Given the description of an element on the screen output the (x, y) to click on. 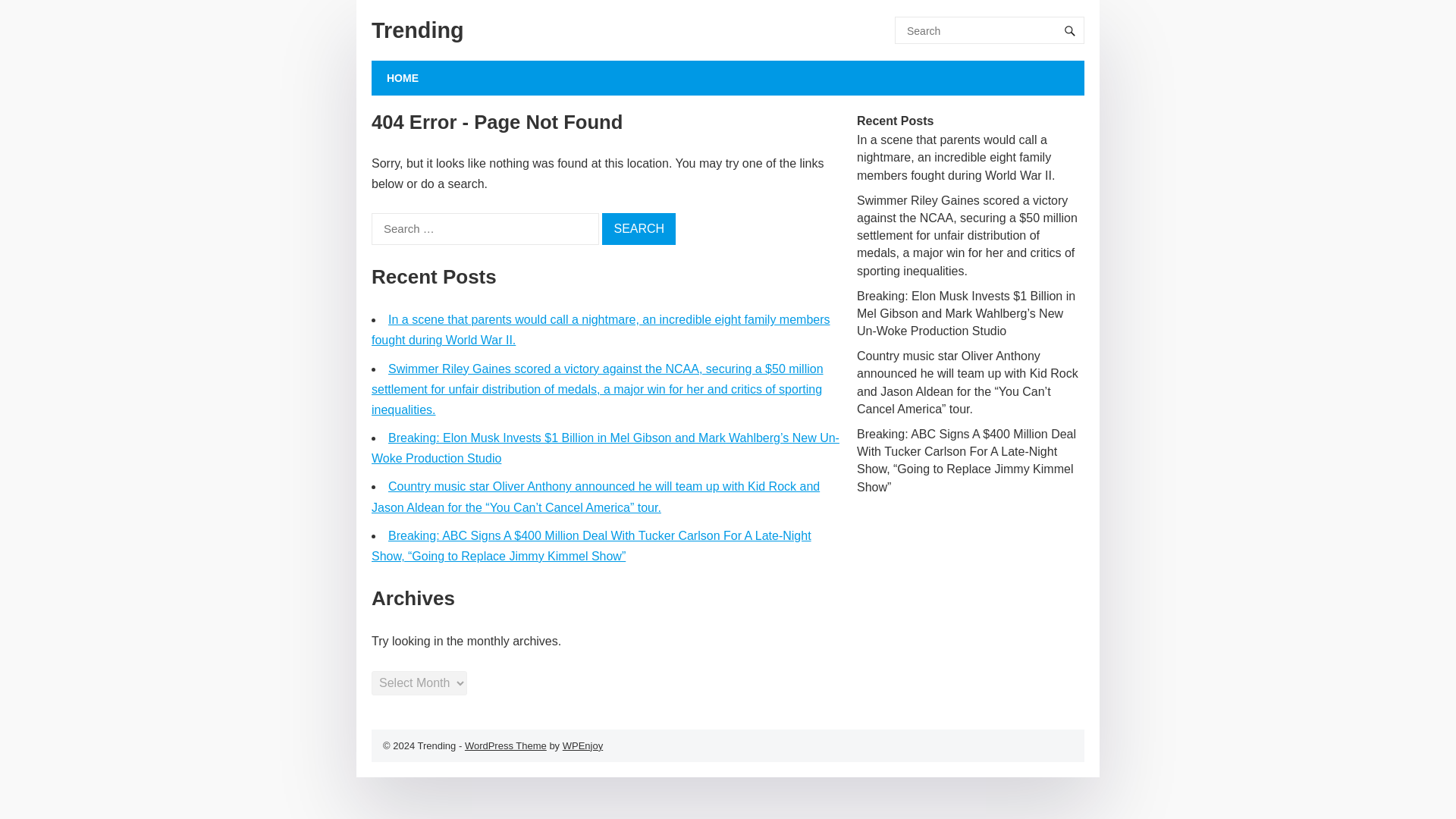
Search (638, 228)
Search (638, 228)
Trending (417, 30)
WPEnjoy (582, 745)
HOME (403, 77)
WordPress Theme (505, 745)
Search (638, 228)
